Given the description of an element on the screen output the (x, y) to click on. 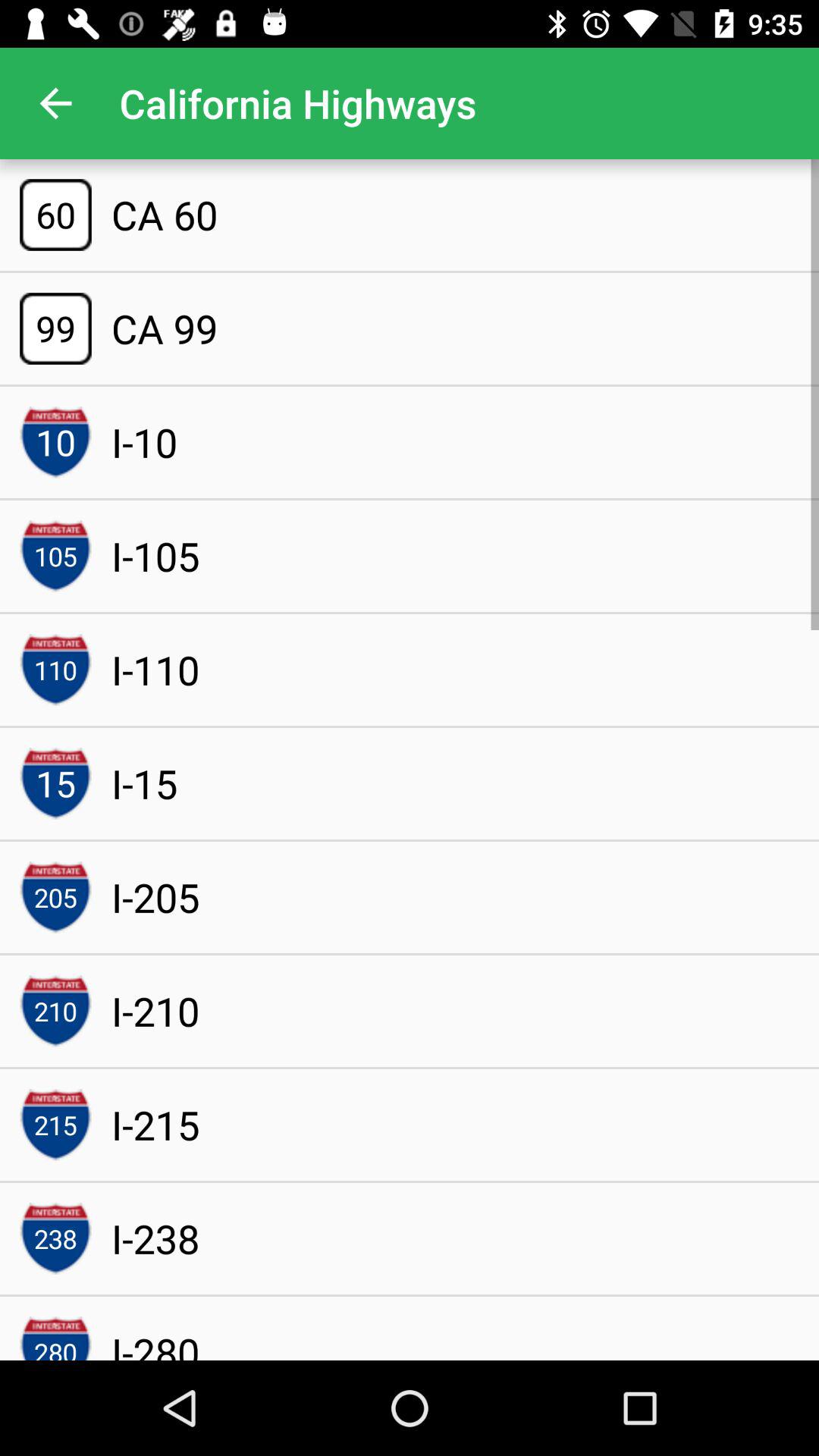
flip until i-280 (155, 1342)
